Given the description of an element on the screen output the (x, y) to click on. 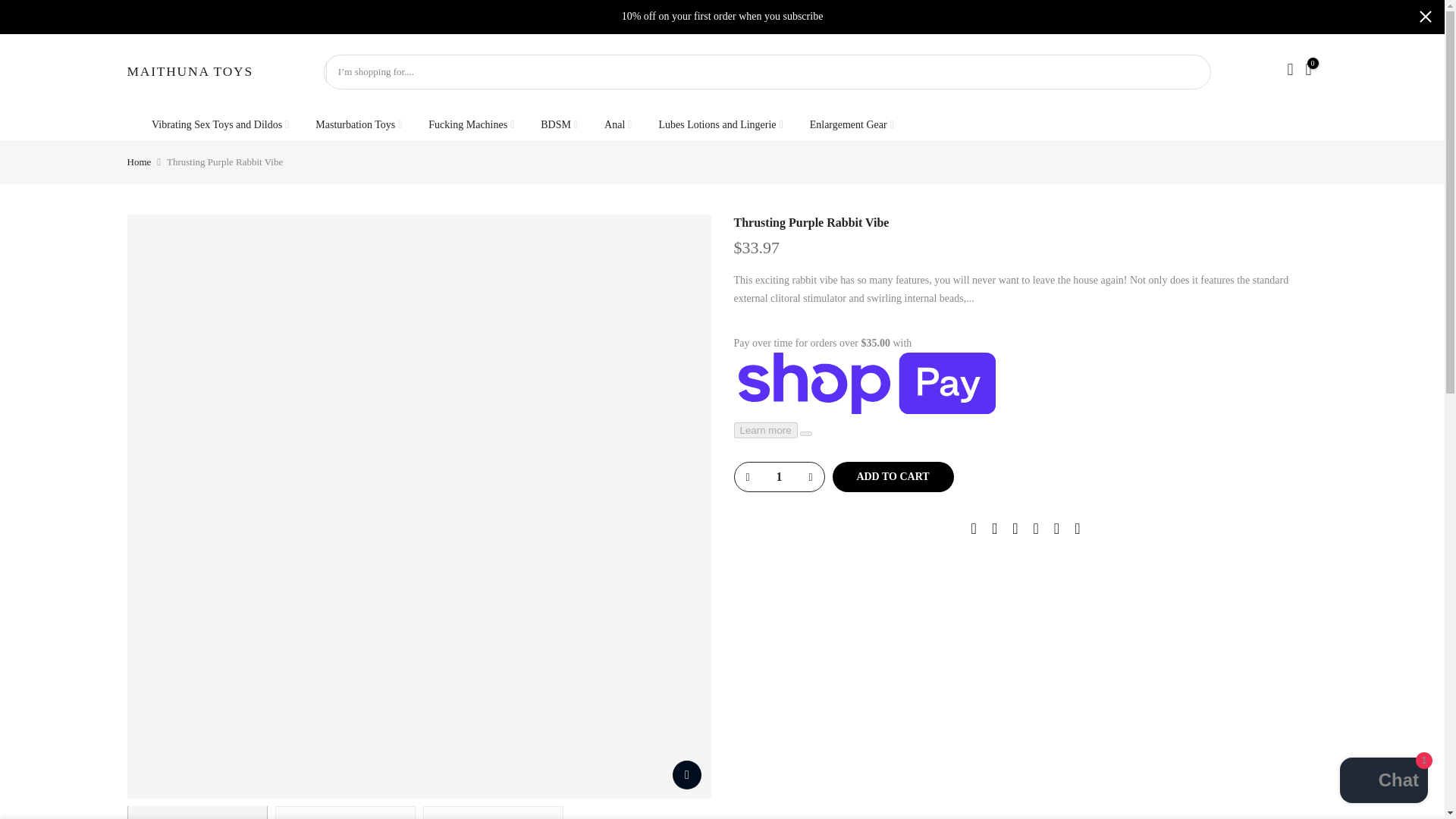
Vibrating Sex Toys and Dildos (219, 123)
MAITHUNA TOYS (190, 71)
0 (1307, 71)
Fucking Machines (470, 123)
1 (778, 476)
Masturbation Toys (358, 123)
Shopify online store chat (1383, 781)
